Given the description of an element on the screen output the (x, y) to click on. 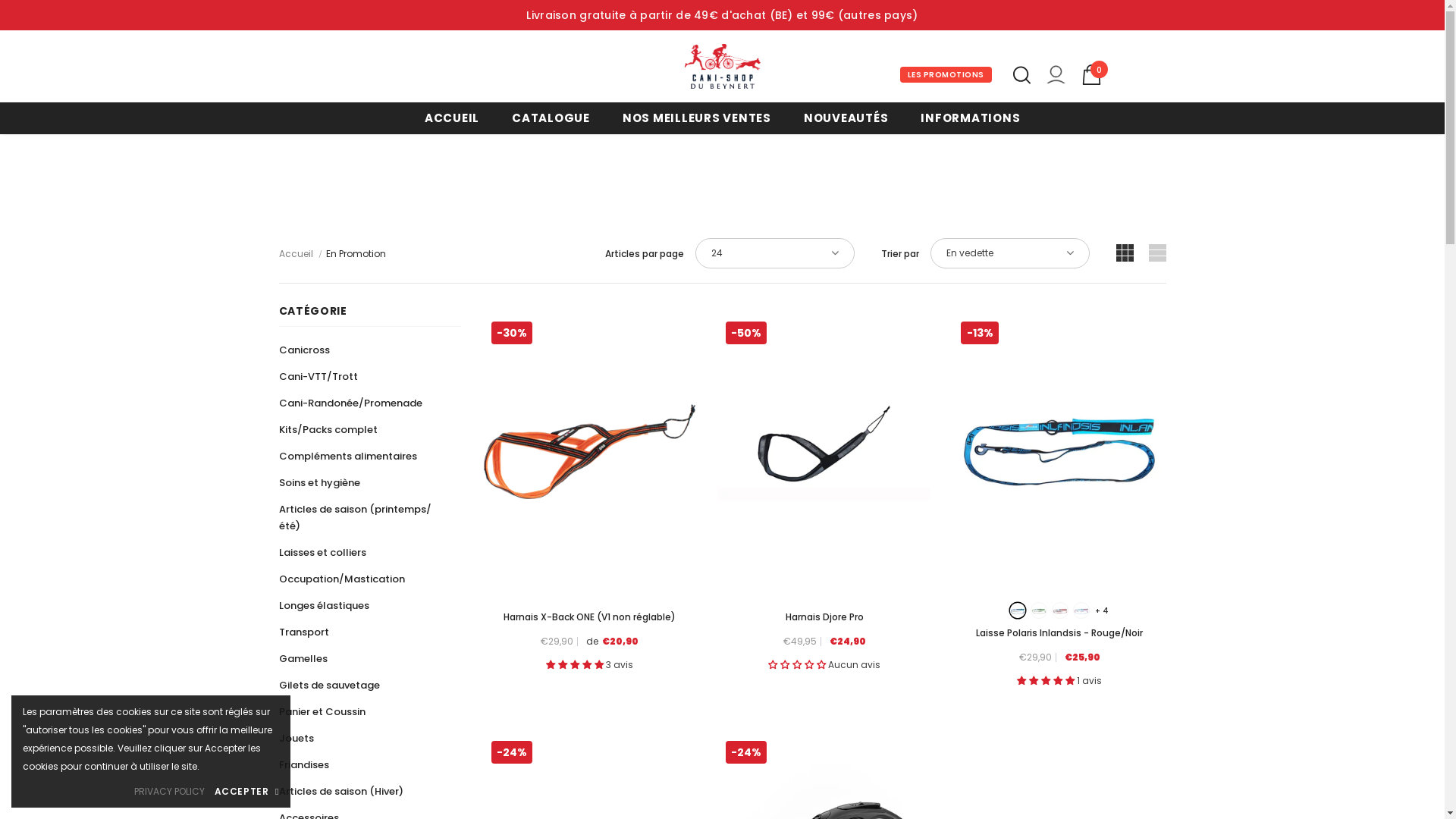
Harnais Djore Pro Element type: text (824, 616)
Transport Element type: text (304, 631)
CATALOGUE Element type: text (550, 118)
Kits/Packs complet Element type: text (328, 429)
Gamelles Element type: text (303, 658)
Canicross Element type: text (304, 349)
+ 4 Element type: text (1101, 610)
Friandises Element type: text (304, 764)
Panier et Coussin Element type: text (322, 711)
LES PROMOTIONS Element type: text (944, 74)
Laisse Polaris Inlandsis - Rouge/Noir Element type: text (1059, 632)
Jouets Element type: text (296, 737)
Laisses et colliers Element type: text (322, 552)
INFORMATIONS Element type: text (969, 118)
Search Icon Element type: hover (1021, 74)
Logo Element type: hover (721, 65)
PRIVACY POLICY Element type: text (169, 791)
Articles de saison (Hiver) Element type: text (341, 791)
Gilets de sauvetage Element type: text (329, 684)
ACCUEIL Element type: text (451, 118)
Cani-VTT/Trott Element type: text (318, 376)
Accueil Element type: text (296, 253)
0 Element type: text (1091, 74)
NOS MEILLEURS VENTES Element type: text (696, 118)
Occupation/Mastication Element type: text (341, 578)
En Promotion Element type: text (355, 253)
